Given the description of an element on the screen output the (x, y) to click on. 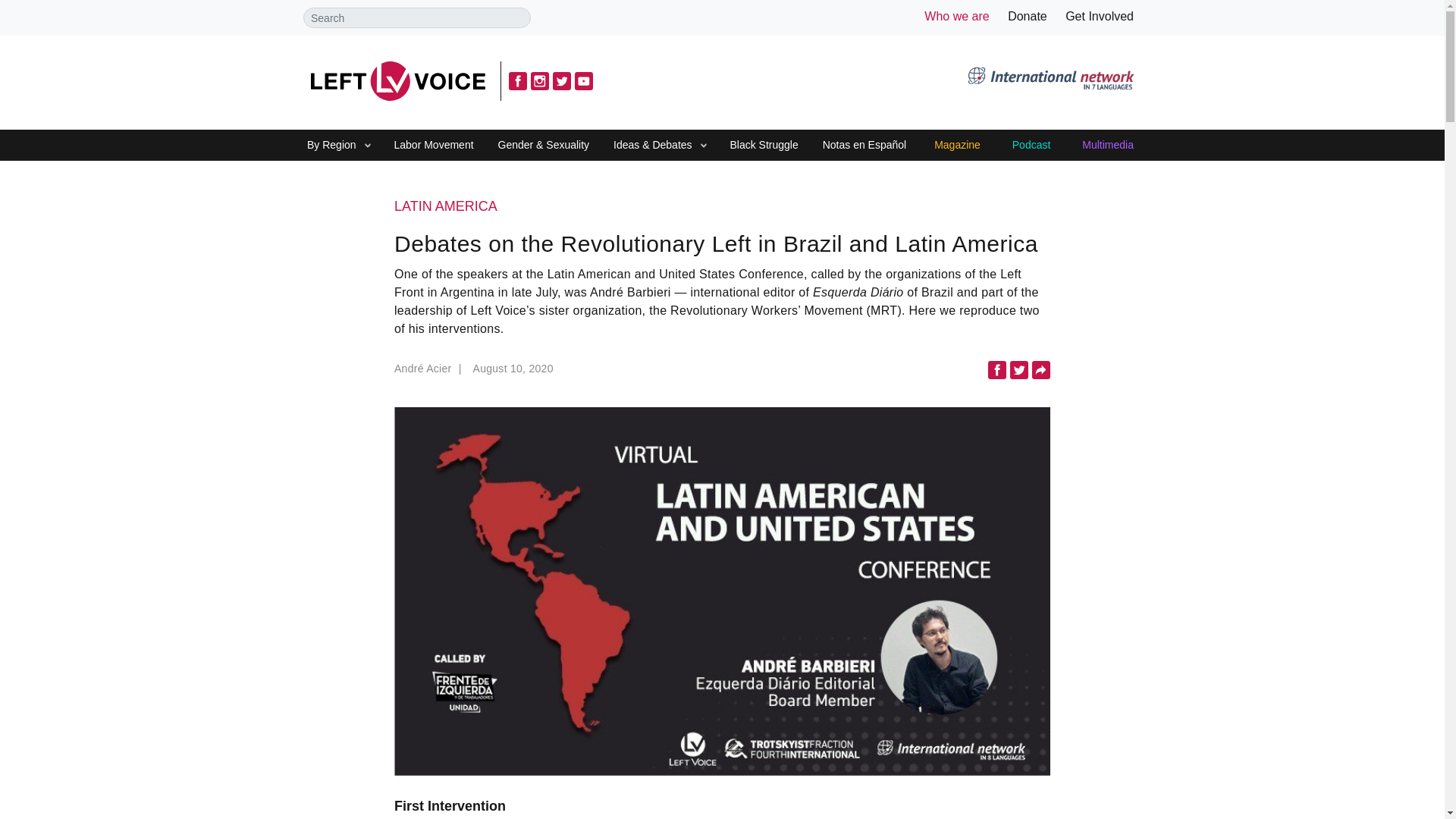
Magazine (957, 145)
Who we are (956, 15)
Podcast (1031, 145)
Get Involved (1099, 15)
LATIN AMERICA (721, 207)
Multimedia (1107, 145)
By Region (330, 145)
Black Struggle (763, 145)
Labor Movement (433, 145)
Left Voice (397, 80)
International Network (1050, 80)
Donate (1027, 15)
